Given the description of an element on the screen output the (x, y) to click on. 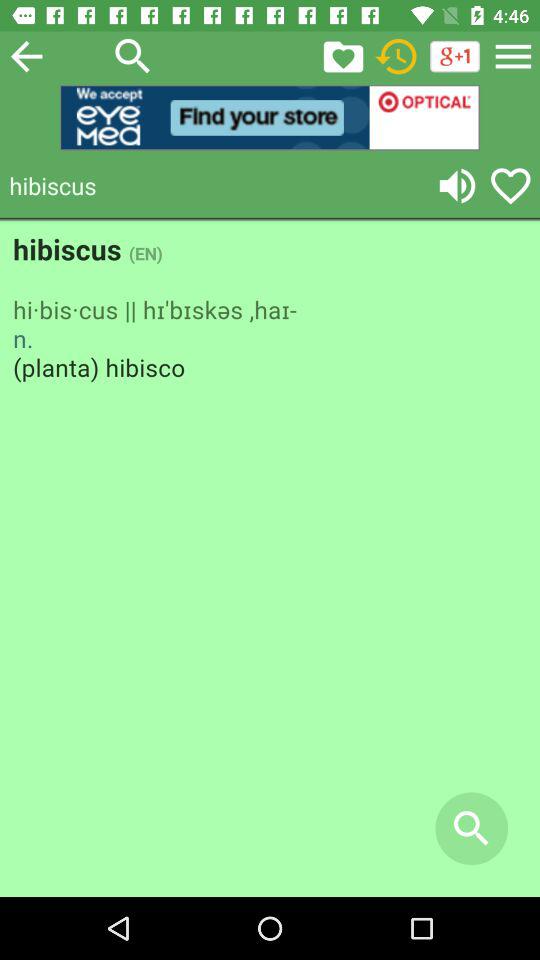
go to menu (513, 56)
